Given the description of an element on the screen output the (x, y) to click on. 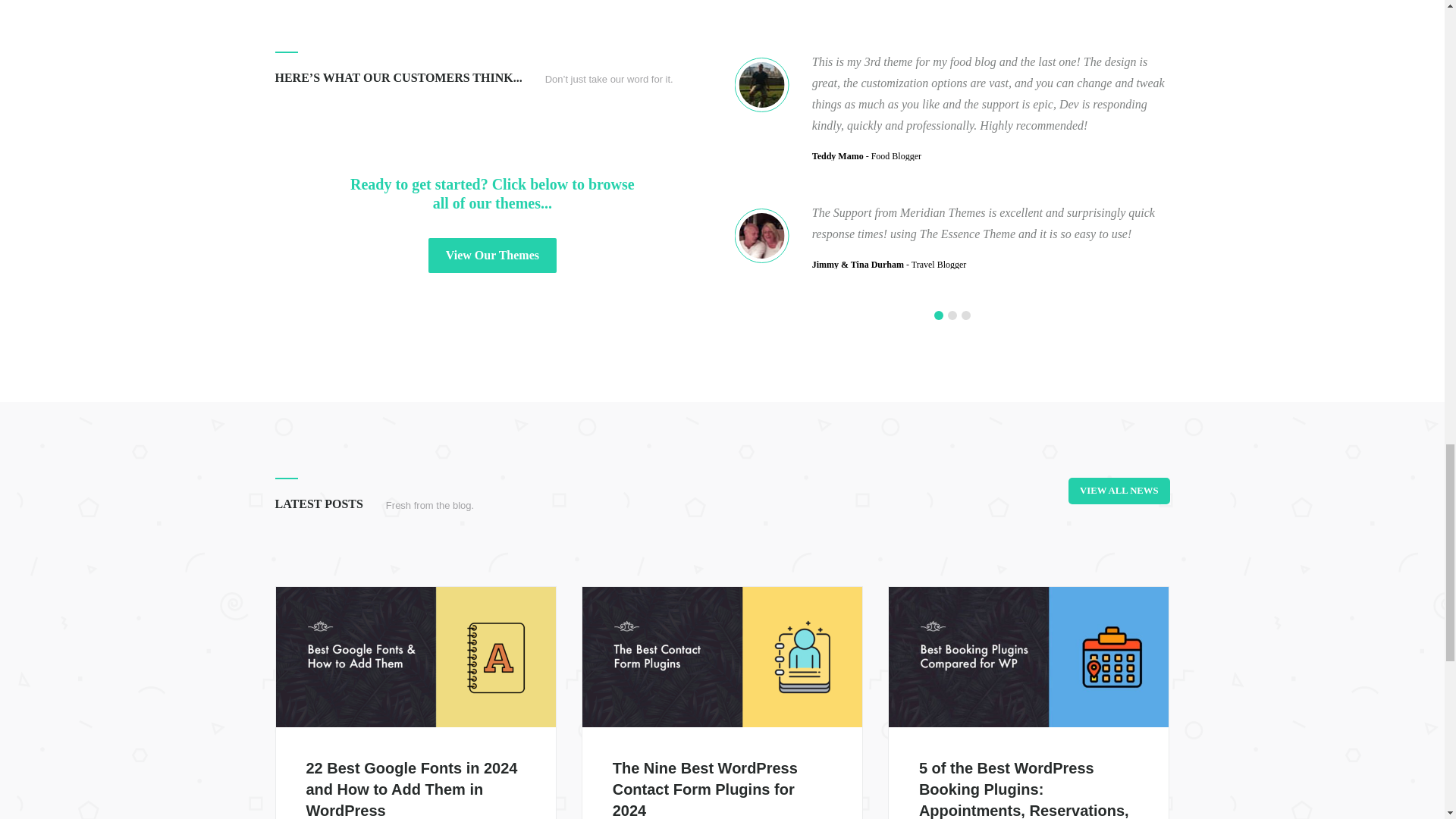
The Nine Best WordPress Contact Form Plugins for 2024 (704, 789)
View Our Themes (492, 255)
VIEW ALL NEWS (1118, 490)
WordPress Themes (492, 255)
